Given the description of an element on the screen output the (x, y) to click on. 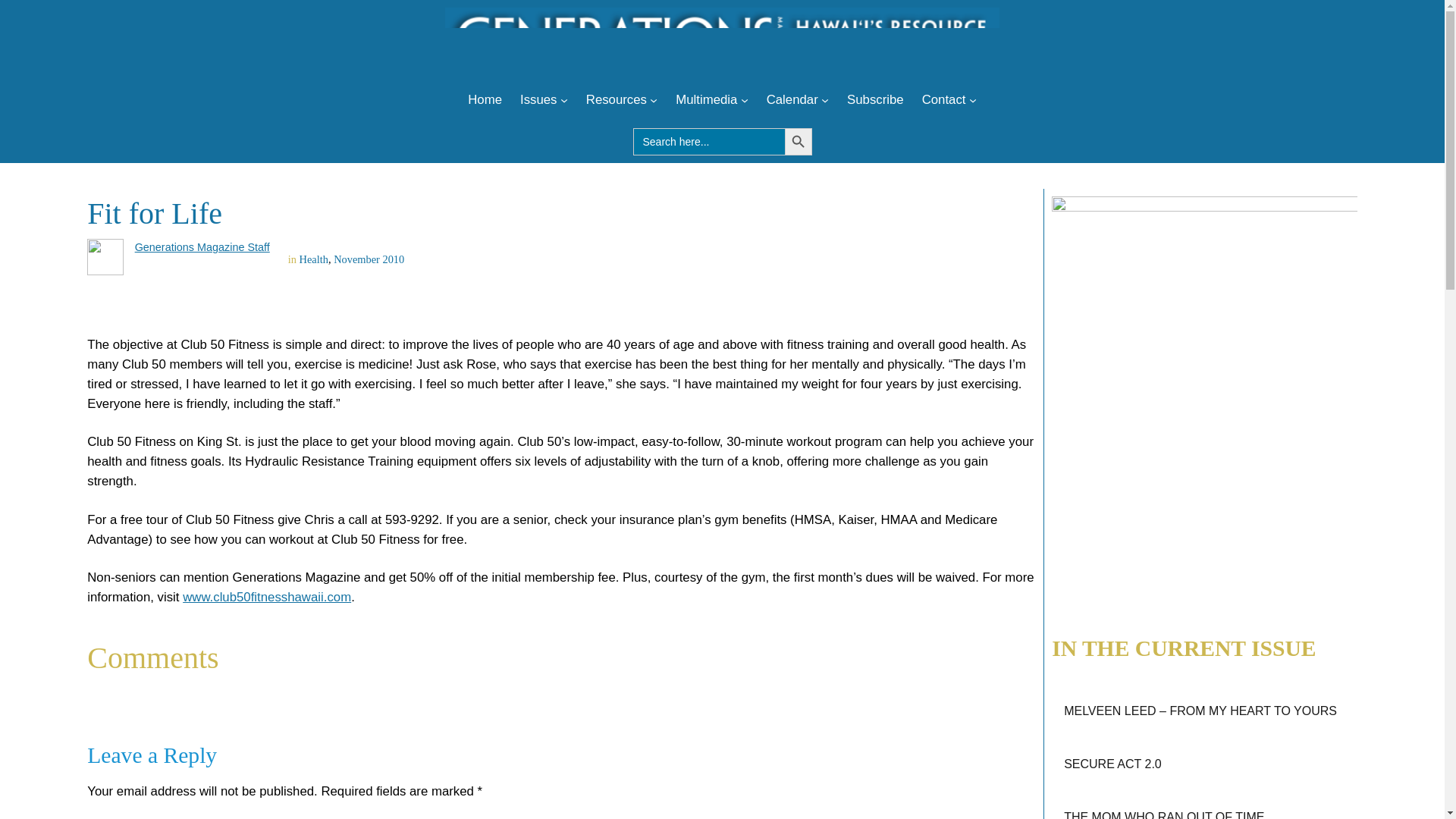
Issues (538, 99)
Calendar (792, 99)
Home (484, 99)
Resources (616, 99)
Multimedia (705, 99)
